Given the description of an element on the screen output the (x, y) to click on. 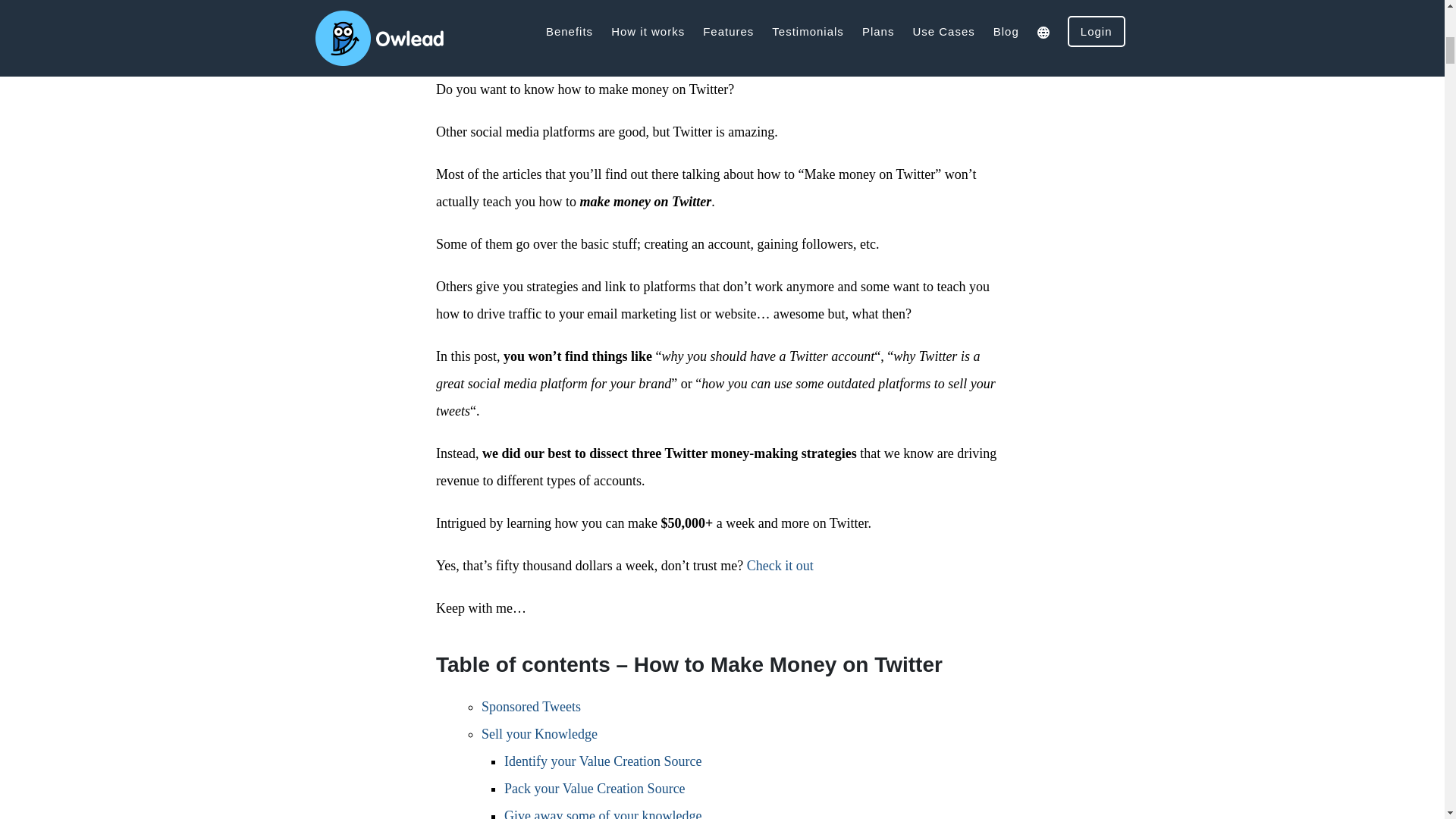
Give away some of your knowledge (602, 813)
Check it out (779, 565)
Sponsored Tweets (530, 706)
Pack your Value Creation Source (594, 788)
Sponsored Tweets (530, 706)
Pack your Value Creation Source (594, 788)
Give away some of your knowledge (602, 813)
Identify your Value Creation Source (602, 761)
Sell your Knowledge (538, 734)
Sell your Knowledge (538, 734)
Identify your Value Creation Source (602, 761)
